Given the description of an element on the screen output the (x, y) to click on. 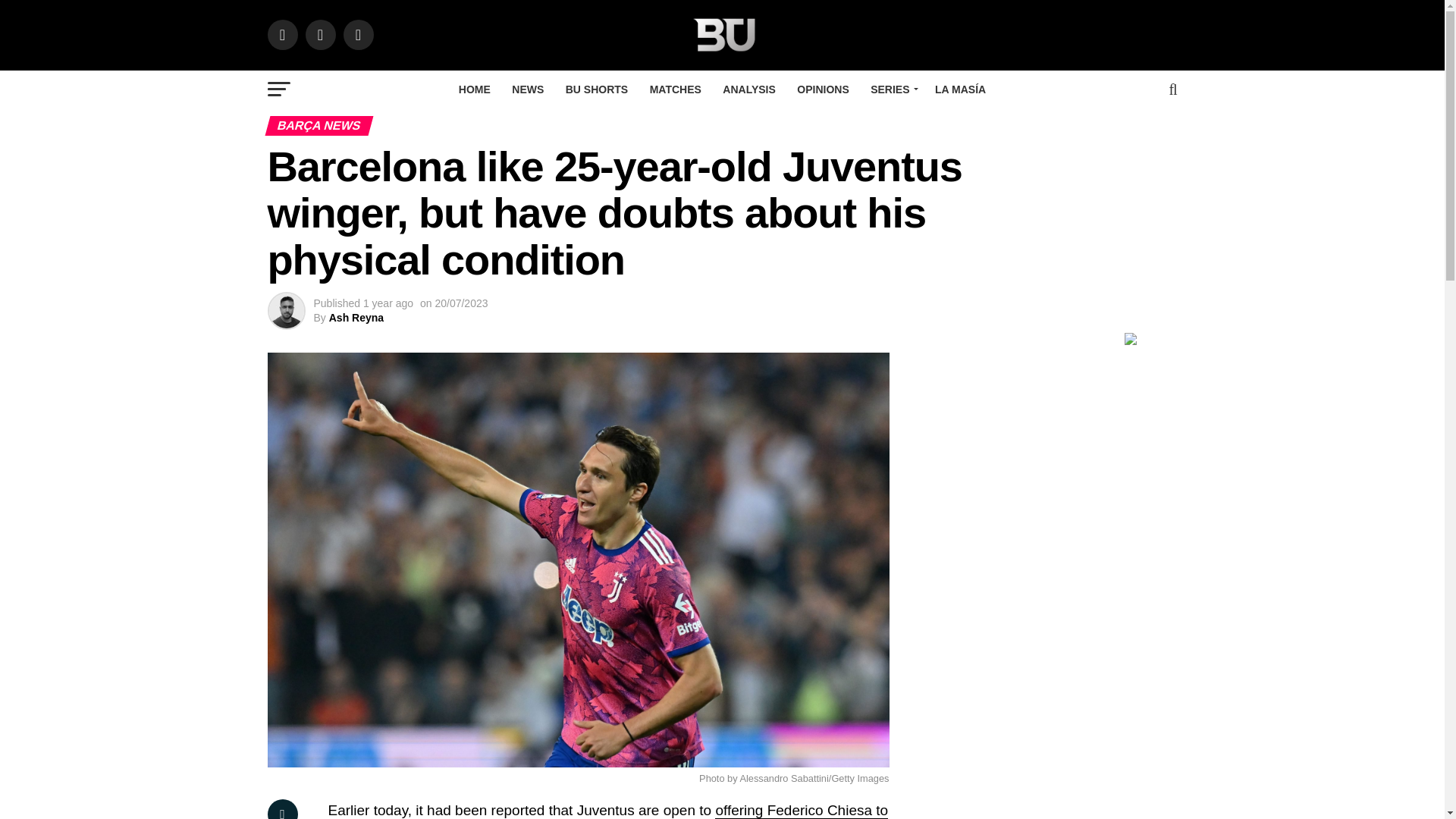
NEWS (527, 89)
HOME (474, 89)
BU SHORTS (596, 89)
Posts by Ash Reyna (356, 317)
